Given the description of an element on the screen output the (x, y) to click on. 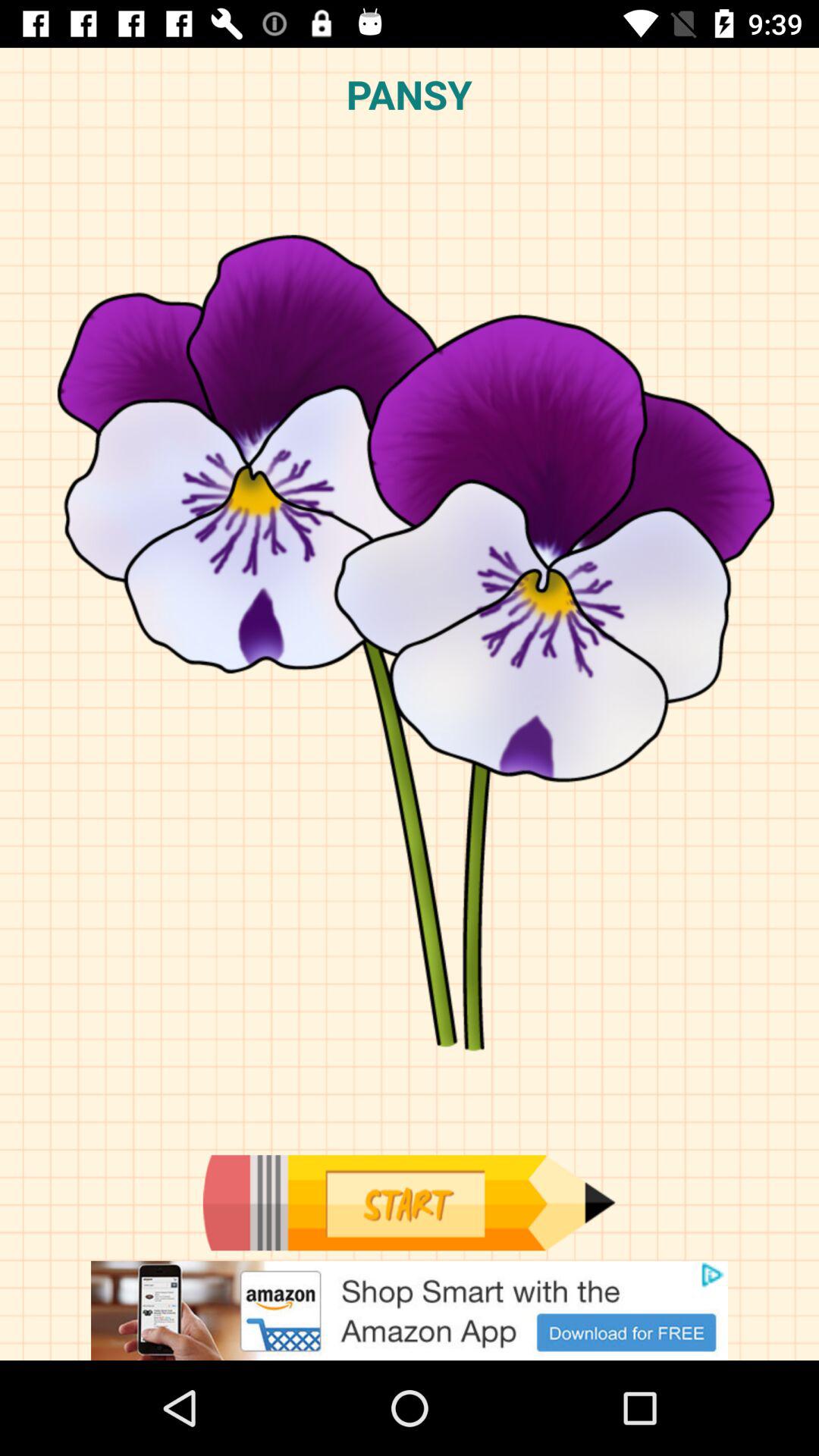
start to draw (409, 1202)
